Given the description of an element on the screen output the (x, y) to click on. 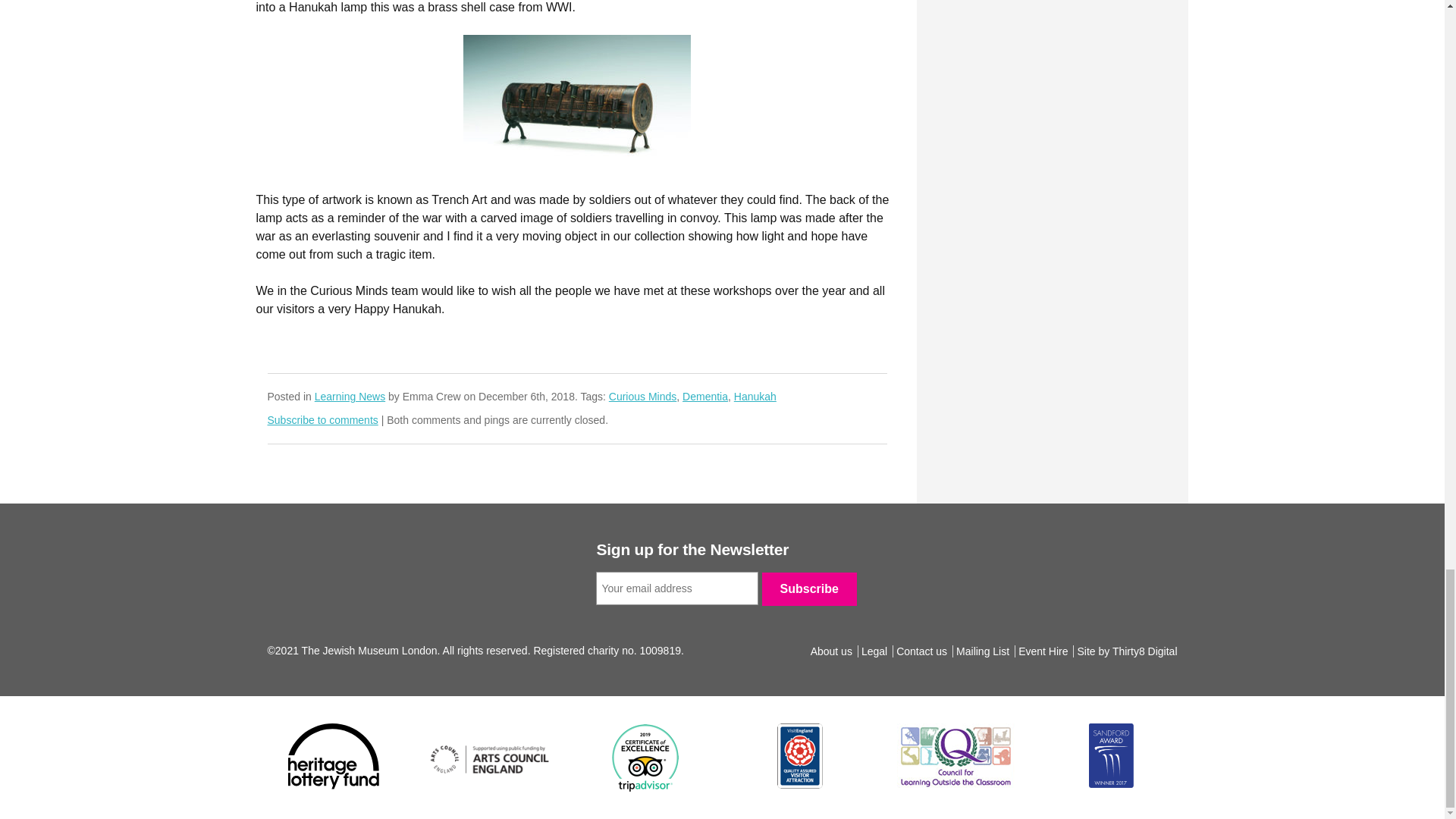
Subscribe (809, 589)
